Given the description of an element on the screen output the (x, y) to click on. 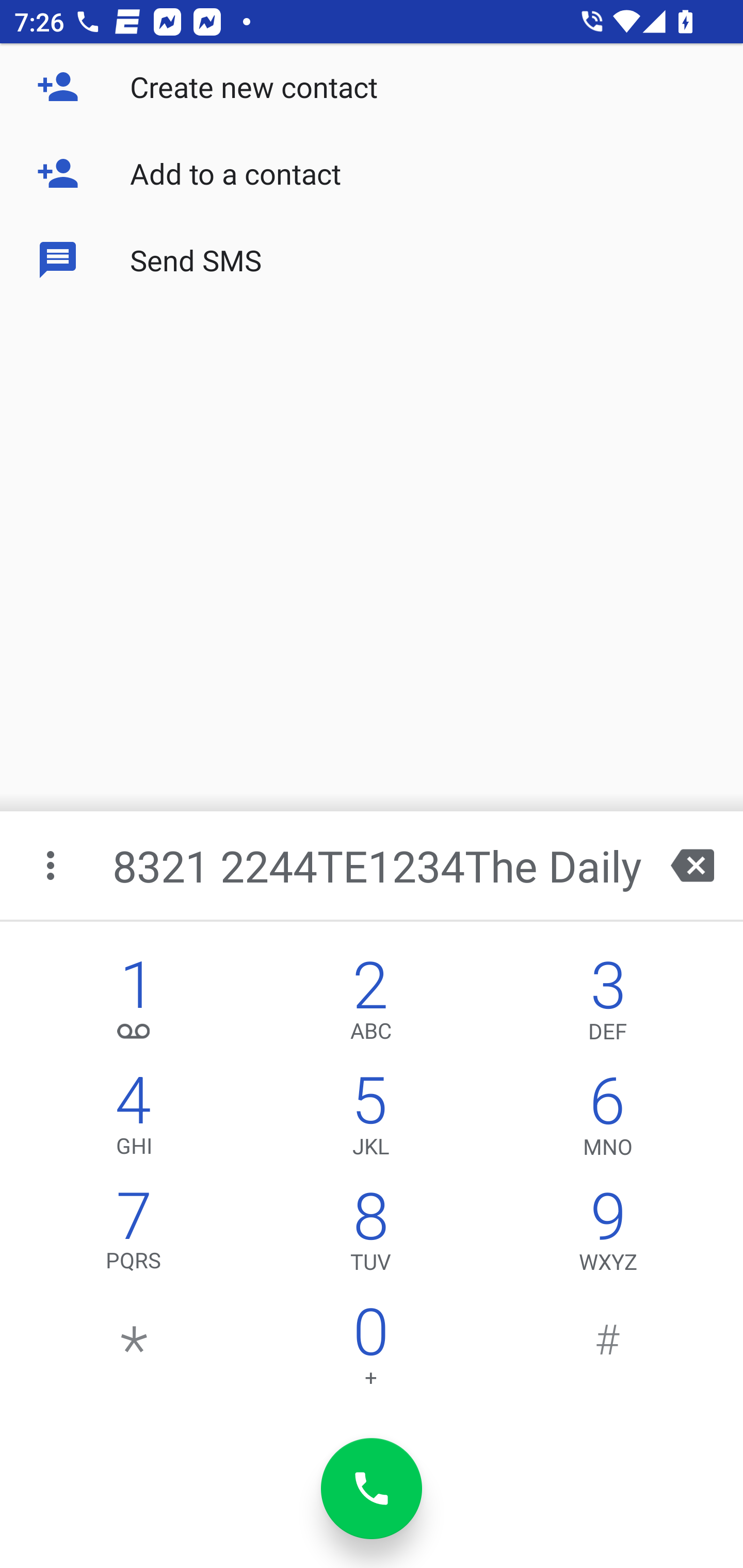
Create new contact (371, 86)
Add to a contact (371, 173)
Send SMS (371, 259)
+65 8321 2244TE1234The Daily (372, 865)
backspace (692, 865)
More options (52, 865)
1, 1 (133, 1005)
2,ABC 2 ABC (370, 1005)
3,DEF 3 DEF (607, 1005)
4,GHI 4 GHI (133, 1120)
5,JKL 5 JKL (370, 1120)
6,MNO 6 MNO (607, 1120)
7,PQRS 7 PQRS (133, 1235)
8,TUV 8 TUV (370, 1235)
9,WXYZ 9 WXYZ (607, 1235)
* (133, 1351)
0 0 + (370, 1351)
# (607, 1351)
dial (371, 1488)
